Given the description of an element on the screen output the (x, y) to click on. 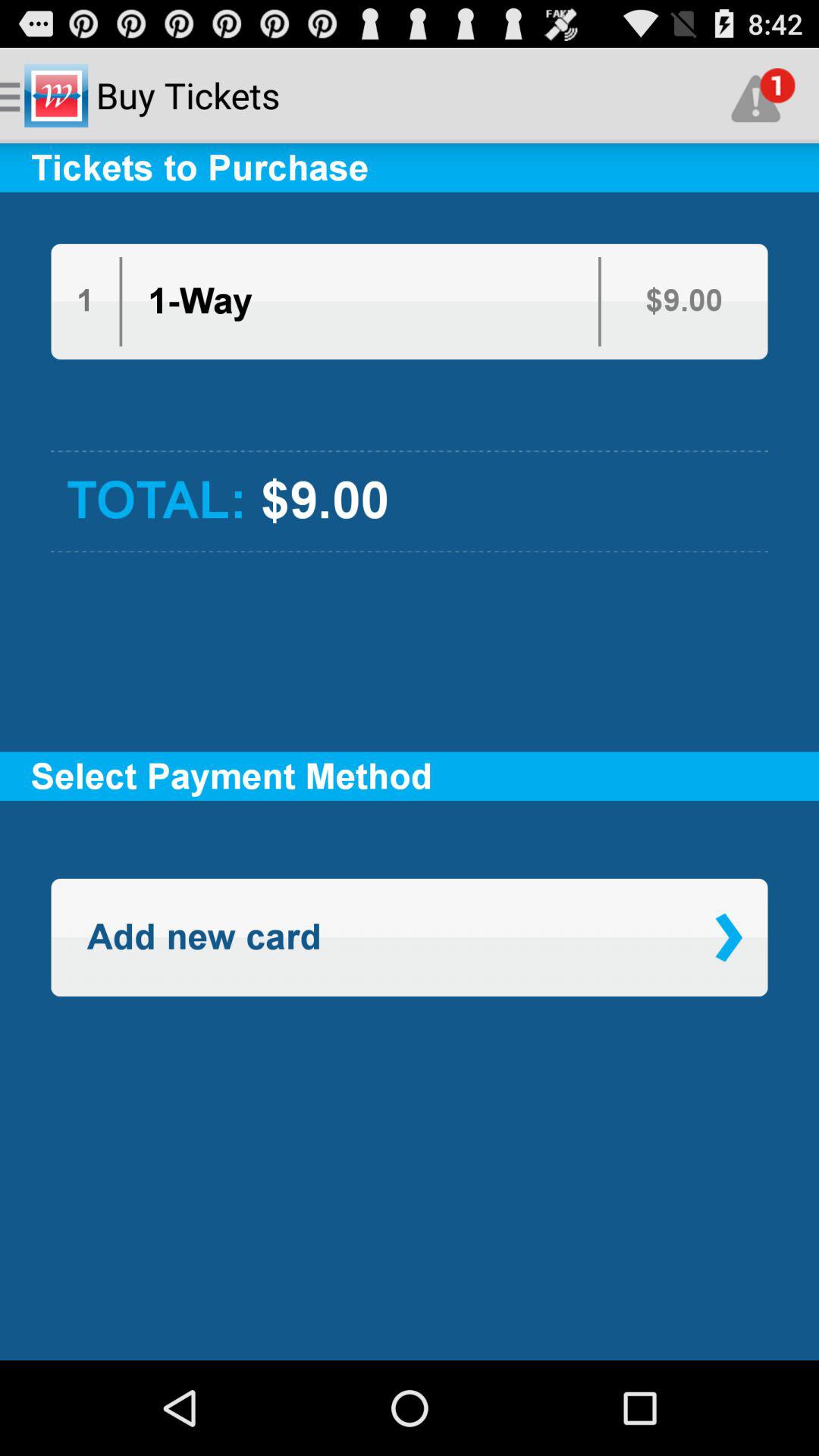
tap app below the 1 (409, 385)
